Given the description of an element on the screen output the (x, y) to click on. 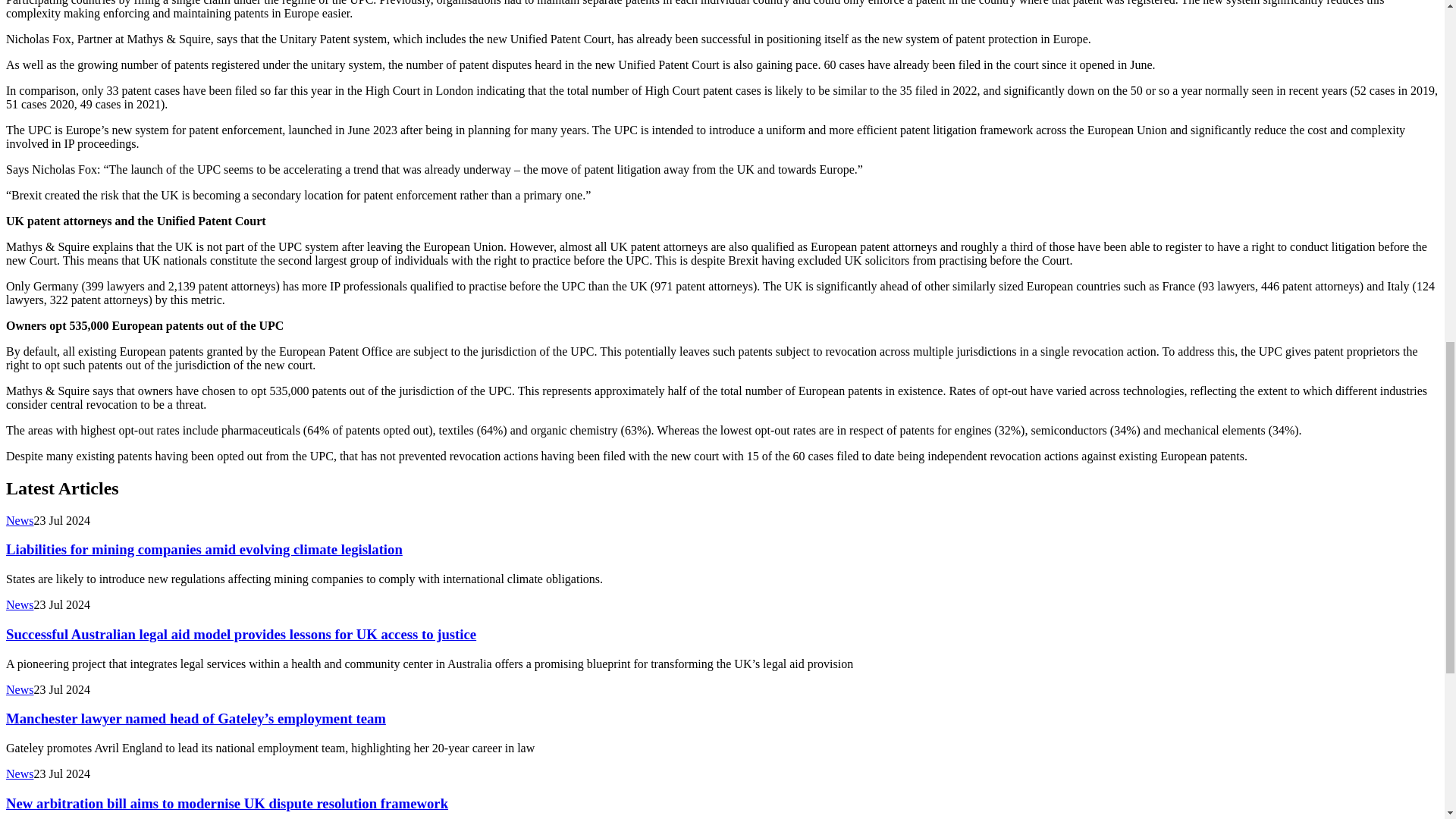
News (19, 604)
News (19, 520)
